Given the description of an element on the screen output the (x, y) to click on. 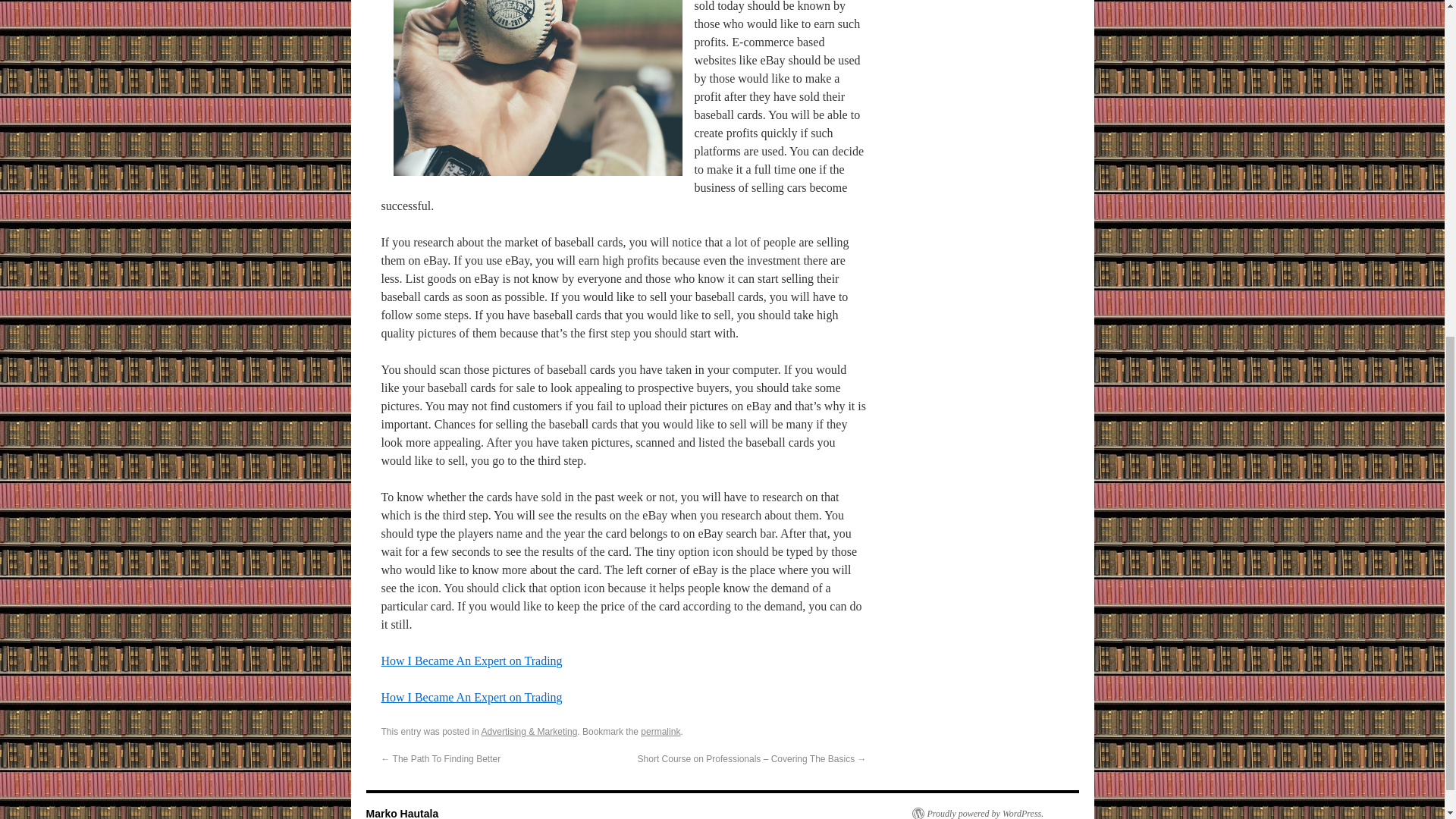
permalink (659, 731)
How I Became An Expert on Trading (471, 660)
Permalink to News For This Month:  Products (659, 731)
How I Became An Expert on Trading (471, 697)
